Given the description of an element on the screen output the (x, y) to click on. 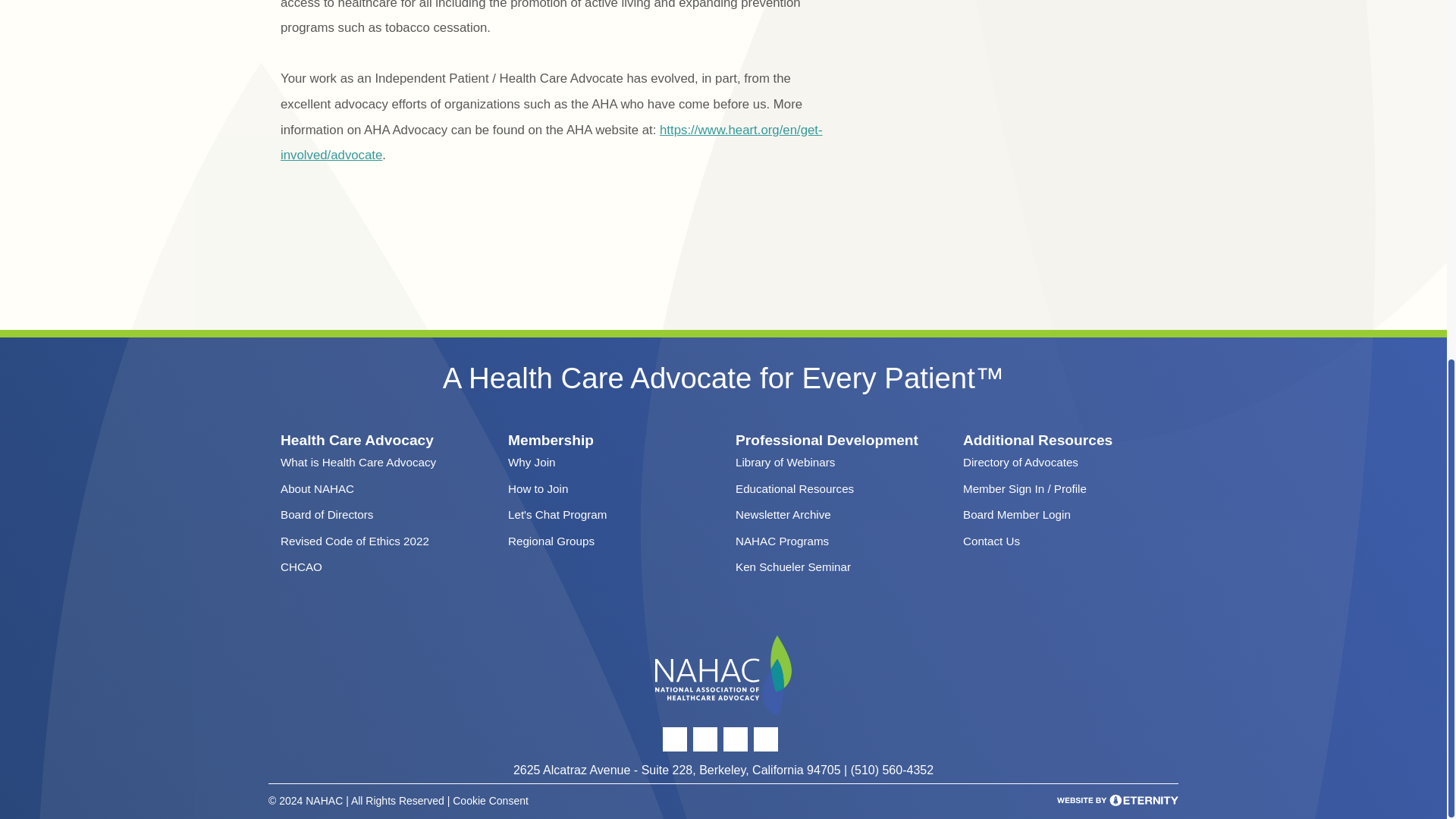
Find us on LinkedIn (765, 739)
Find us on Facebook (674, 739)
Follow us on Instagram (735, 739)
Follow us on Twitter (705, 739)
